Given the description of an element on the screen output the (x, y) to click on. 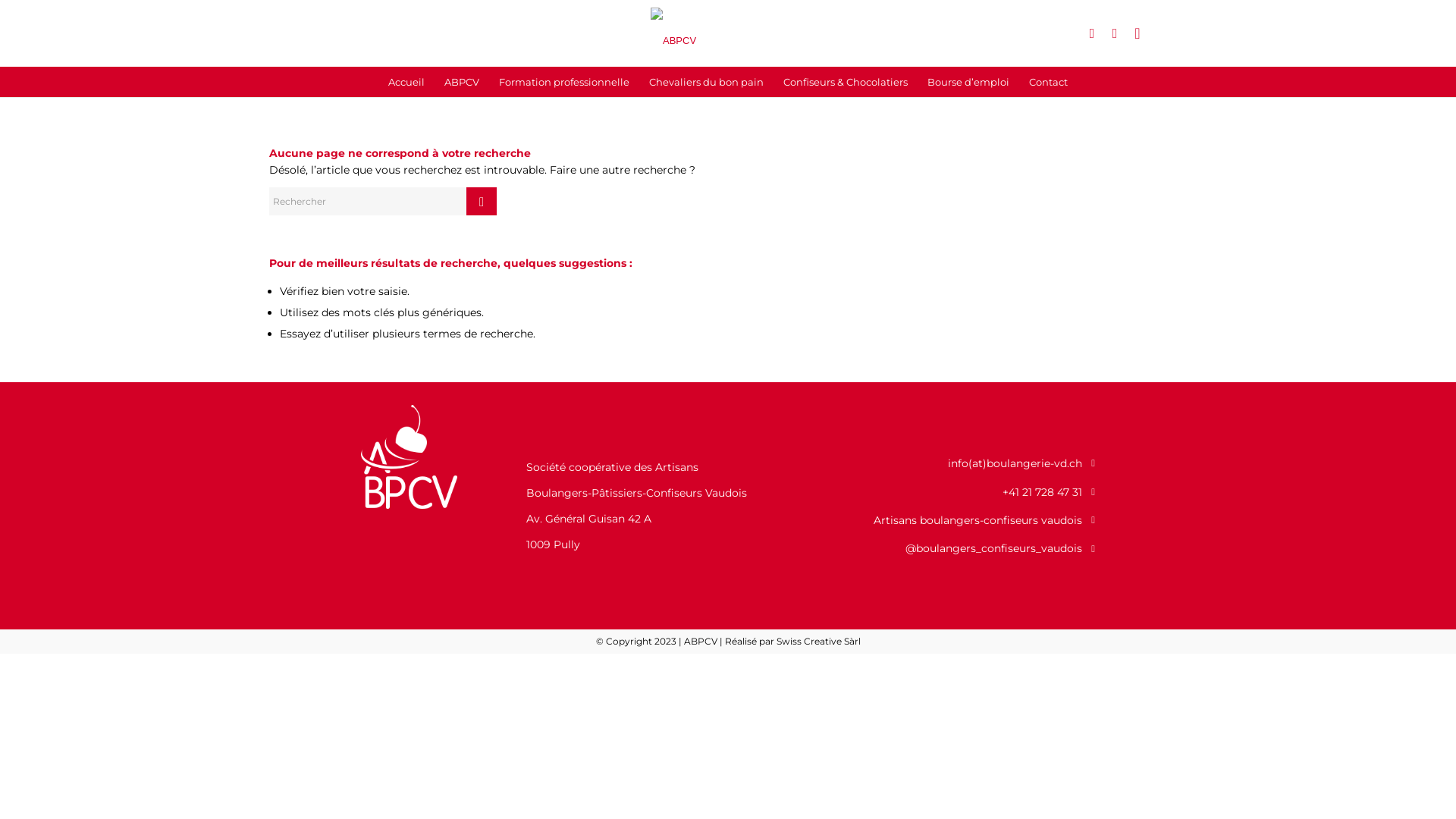
Contact Element type: text (1048, 81)
Accueil Element type: text (406, 81)
info(at)boulangerie-vd.ch Element type: text (957, 463)
Chevaliers du bon pain Element type: text (706, 81)
Facebook Element type: hover (1091, 32)
@boulangers_confiseurs_vaudois Element type: text (957, 548)
Formation professionnelle Element type: text (564, 81)
ABPCV Element type: text (461, 81)
Artisans boulangers-confiseurs vaudois Element type: text (957, 520)
+41 21 728 47 31 Element type: text (957, 492)
Confiseurs & Chocolatiers Element type: text (845, 81)
logo Element type: hover (727, 33)
Mail Element type: hover (1137, 32)
Instagram Element type: hover (1114, 32)
